Given the description of an element on the screen output the (x, y) to click on. 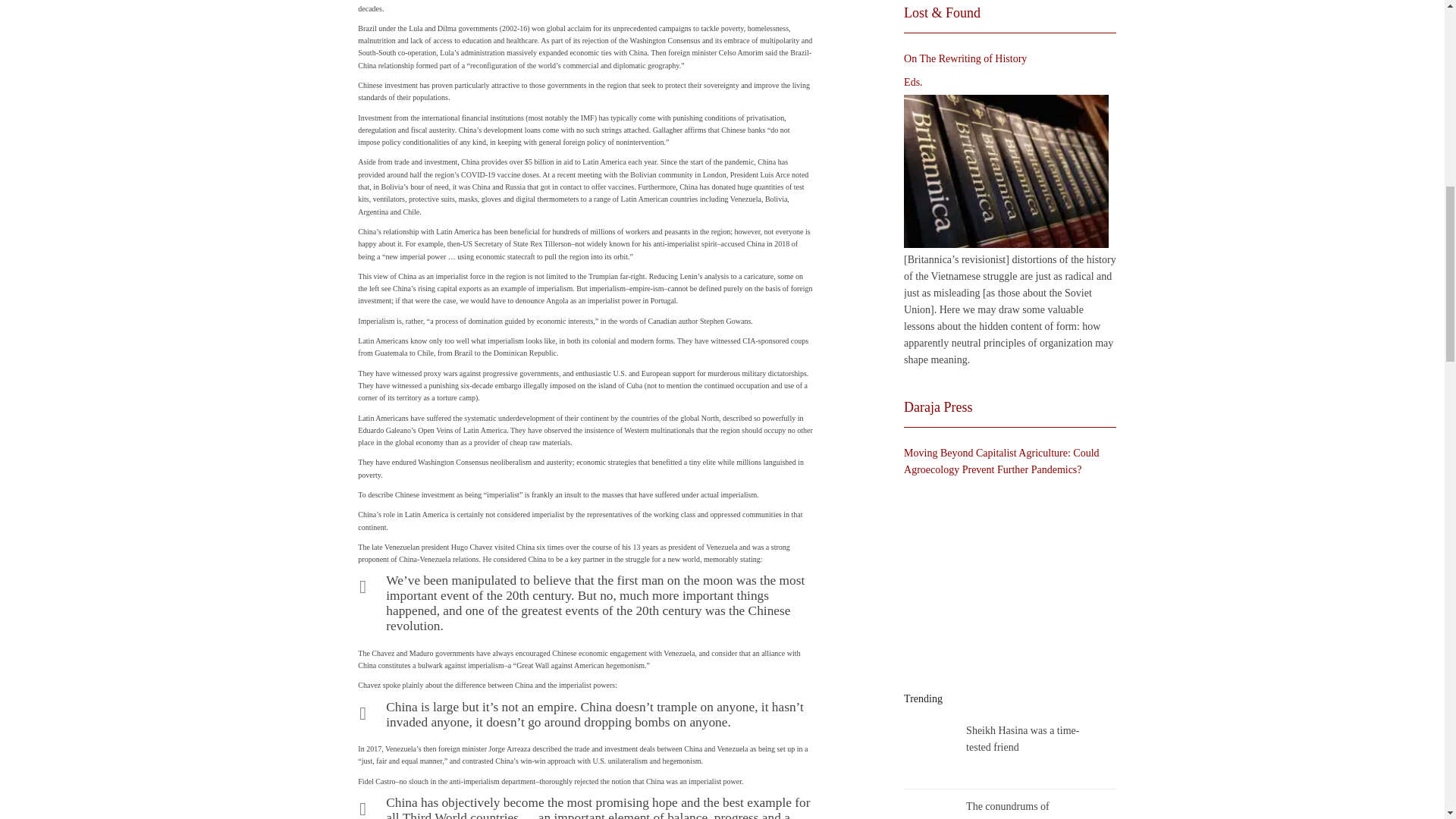
Posts by Eds. (913, 82)
On The Rewriting of History (1006, 171)
